Given the description of an element on the screen output the (x, y) to click on. 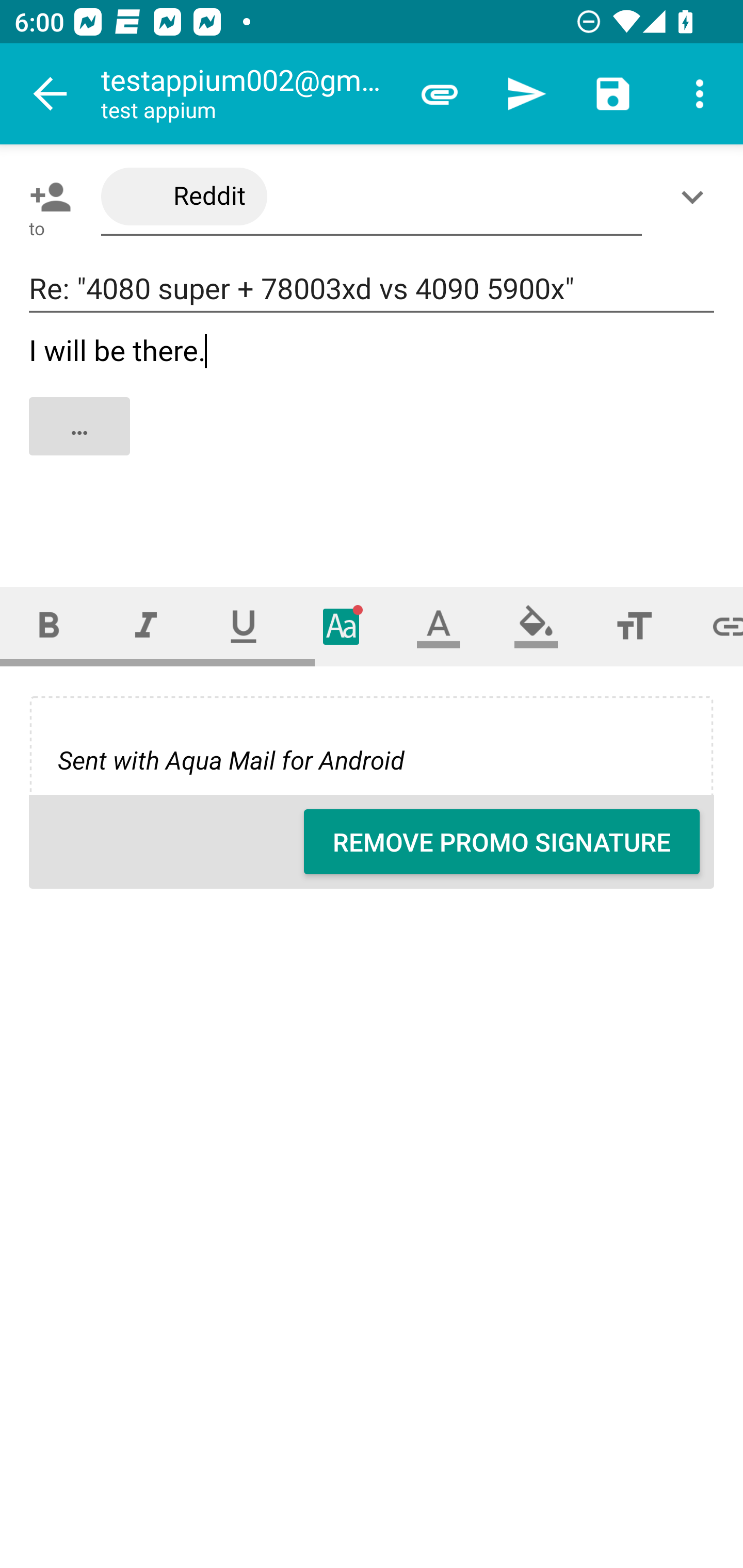
Navigate up (50, 93)
testappium002@gmail.com test appium (248, 93)
Attach (439, 93)
Send (525, 93)
Save (612, 93)
More options (699, 93)
Reddit <noreply@redditmail.com>,  (371, 197)
Pick contact: To (46, 196)
Show/Add CC/BCC (696, 196)
Re: "4080 super + 78003xd vs 4090 5900x" (371, 288)
I will be there.
…
 (372, 442)
Bold (48, 626)
Italic (145, 626)
Underline (243, 626)
Typeface (font) (341, 626)
Text color (438, 626)
Fill color (536, 626)
Font size (633, 626)
Set link (712, 626)
REMOVE PROMO SIGNATURE (501, 841)
